Given the description of an element on the screen output the (x, y) to click on. 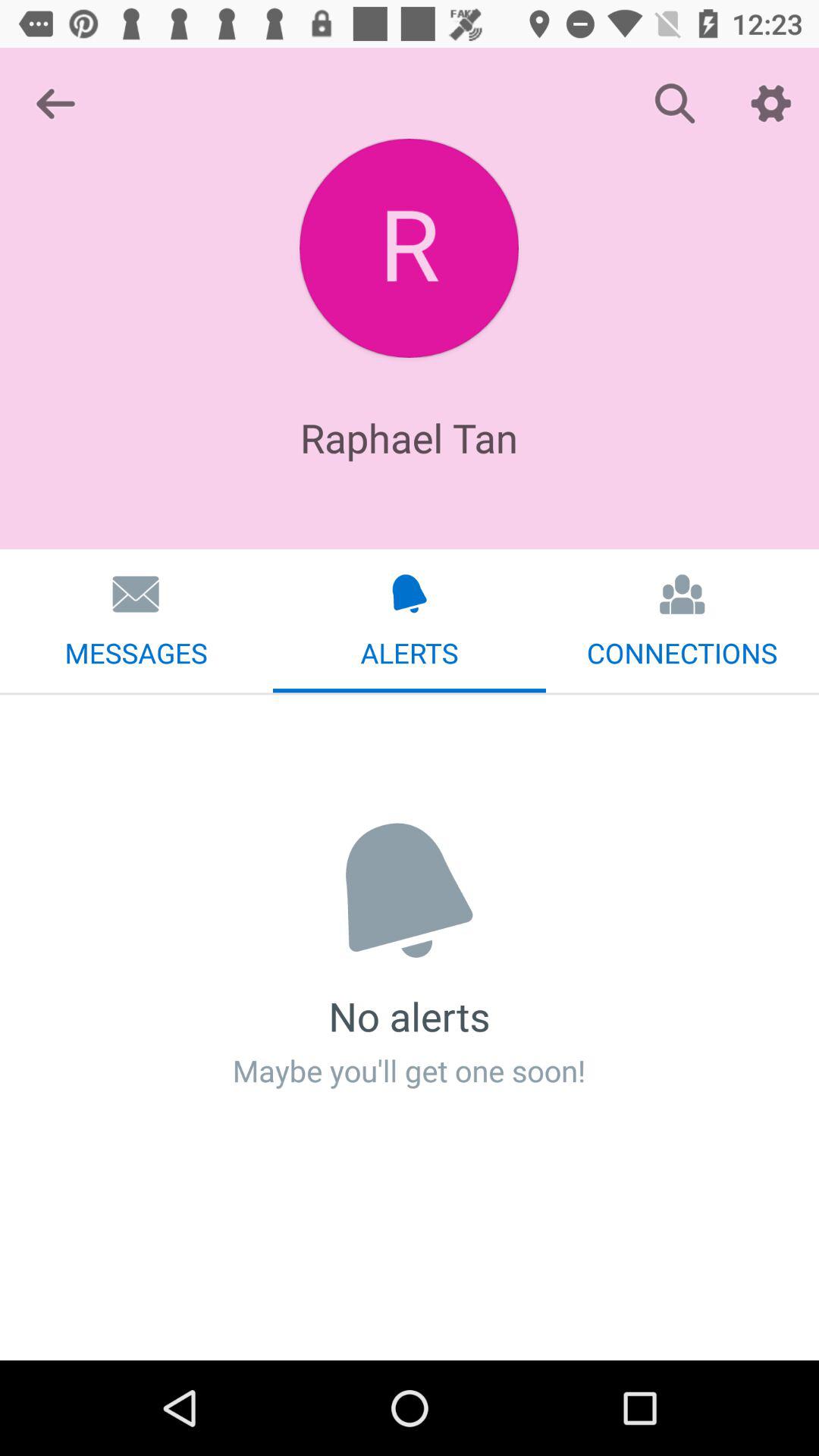
turn on item at the top left corner (55, 103)
